Given the description of an element on the screen output the (x, y) to click on. 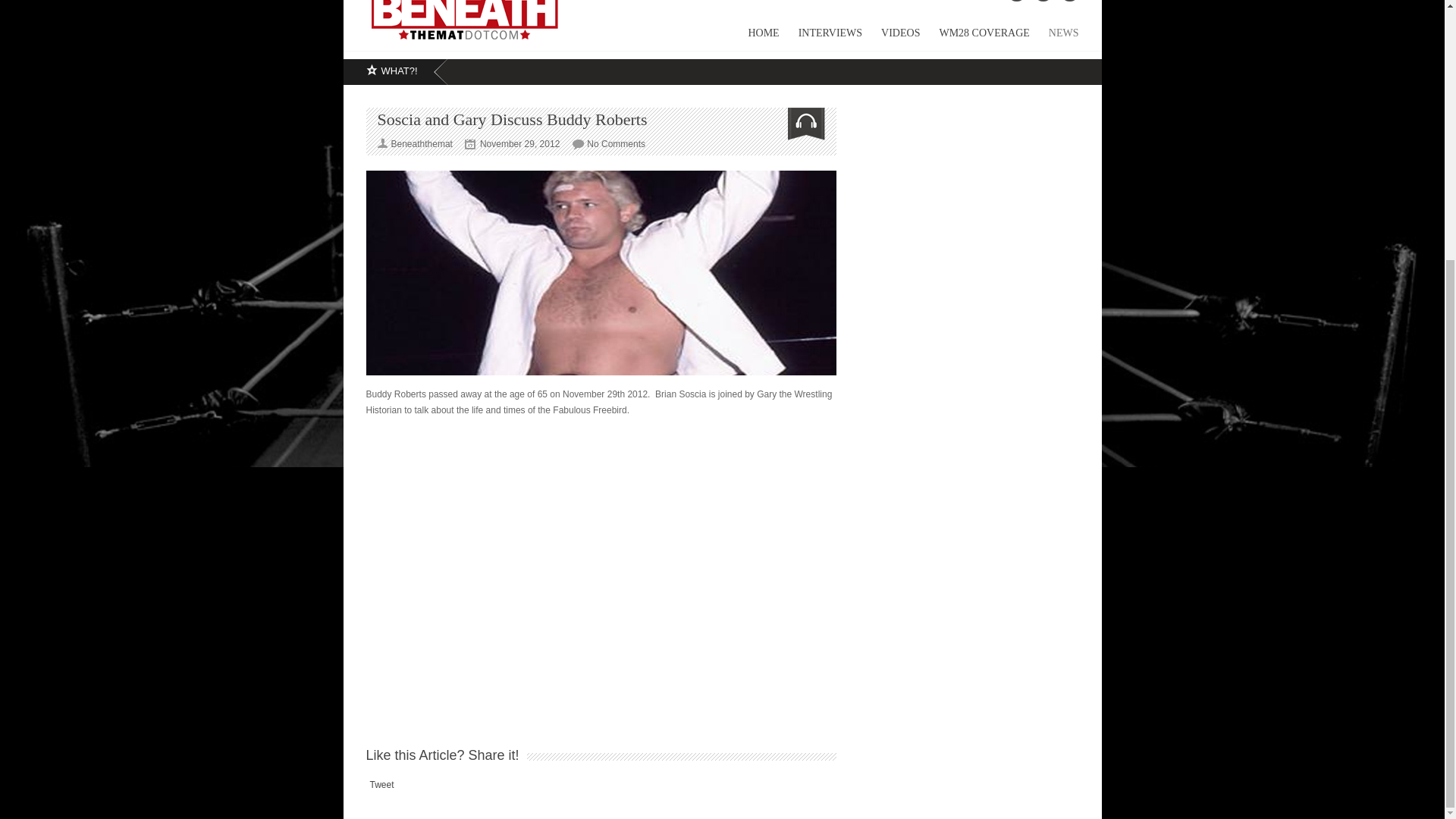
VIDEOS (890, 38)
INTERVIEWS (819, 38)
WM28 COVERAGE (974, 38)
NEWS (1053, 38)
YouTube video player (600, 561)
No Comments (615, 143)
Tweet (381, 784)
Comment on Soscia and Gary Discuss Buddy Roberts (615, 143)
HOME (753, 38)
